Given the description of an element on the screen output the (x, y) to click on. 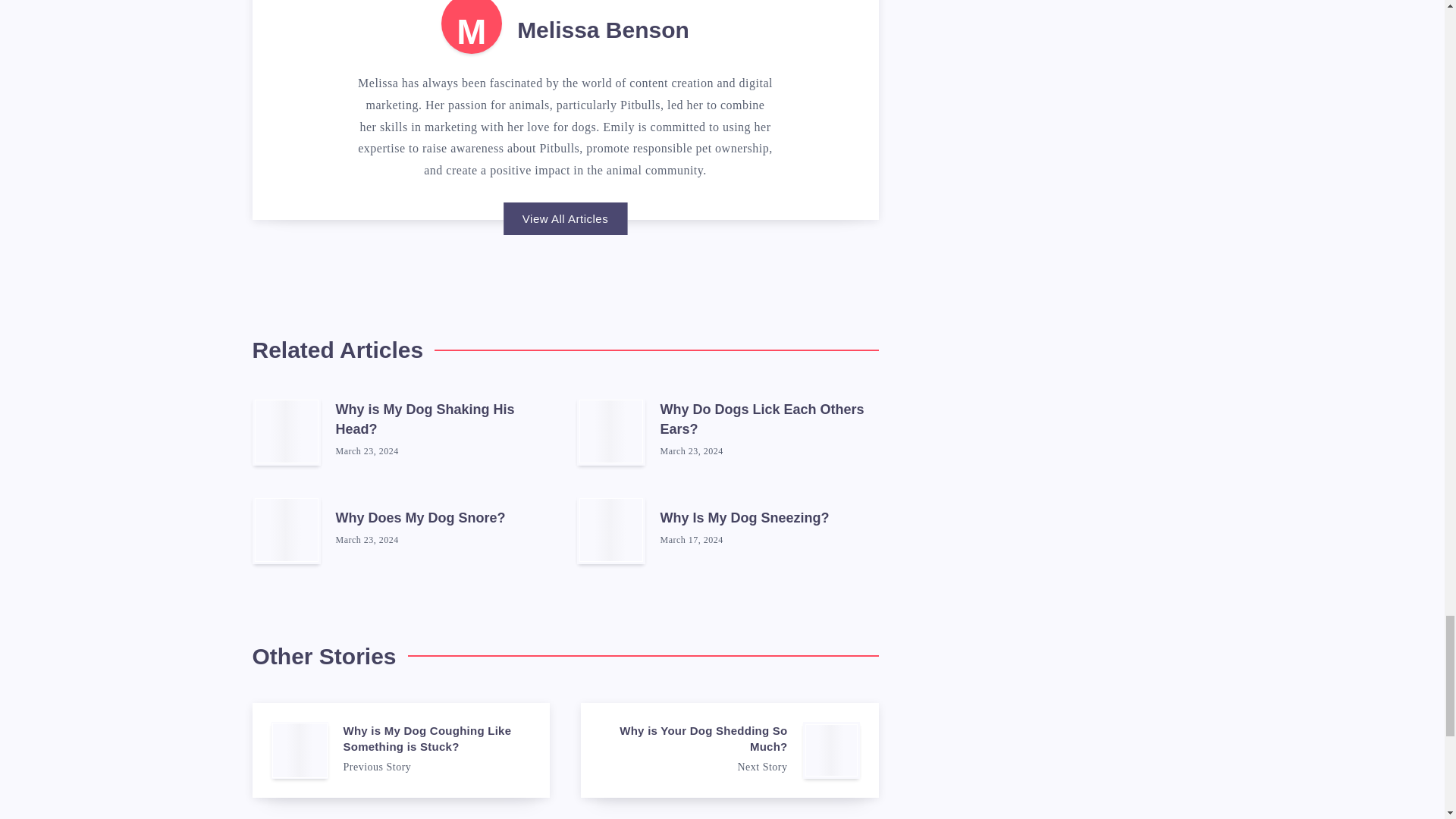
Author: Melissa Benson (471, 27)
M (471, 27)
Melissa Benson (602, 31)
View All Articles (565, 218)
